Given the description of an element on the screen output the (x, y) to click on. 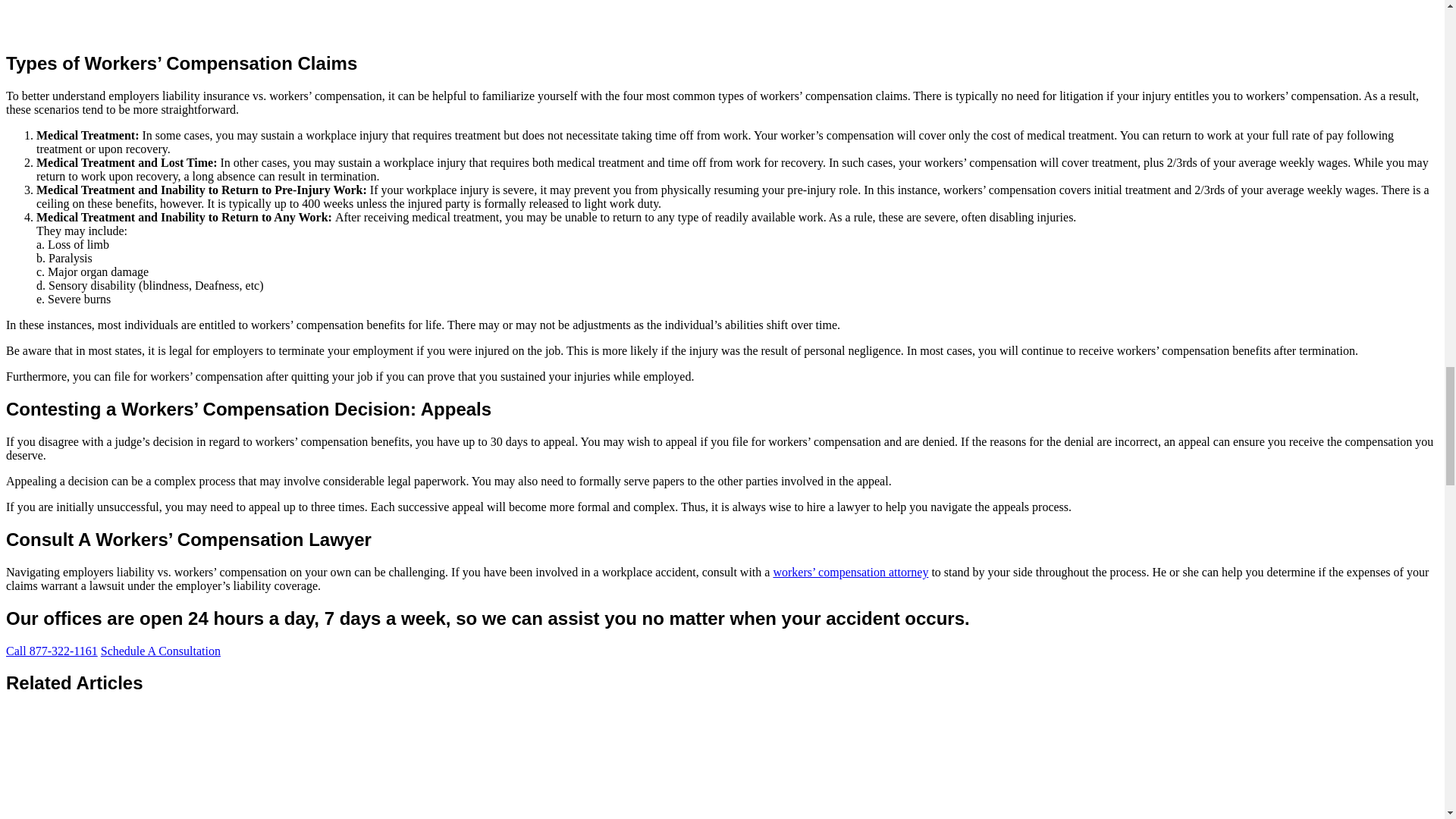
Schedule A Consultation (160, 650)
Call 877-322-1161 (51, 650)
